Given the description of an element on the screen output the (x, y) to click on. 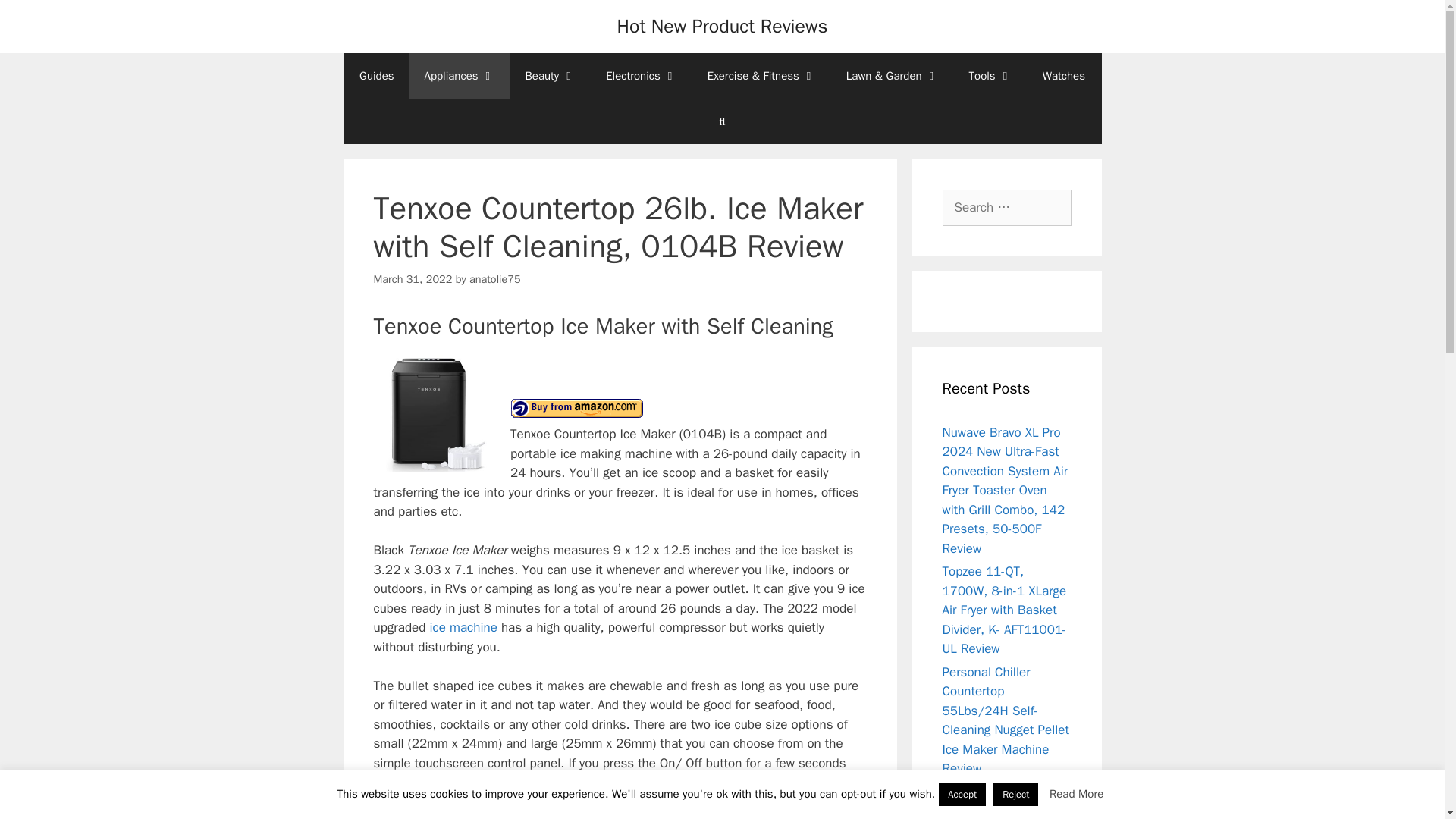
Hot New Product Reviews (721, 25)
View all posts by anatolie75 (494, 278)
Guides (376, 75)
Search for: (1006, 207)
Buy from Amazon.com (577, 408)
Appliances (460, 75)
